Given the description of an element on the screen output the (x, y) to click on. 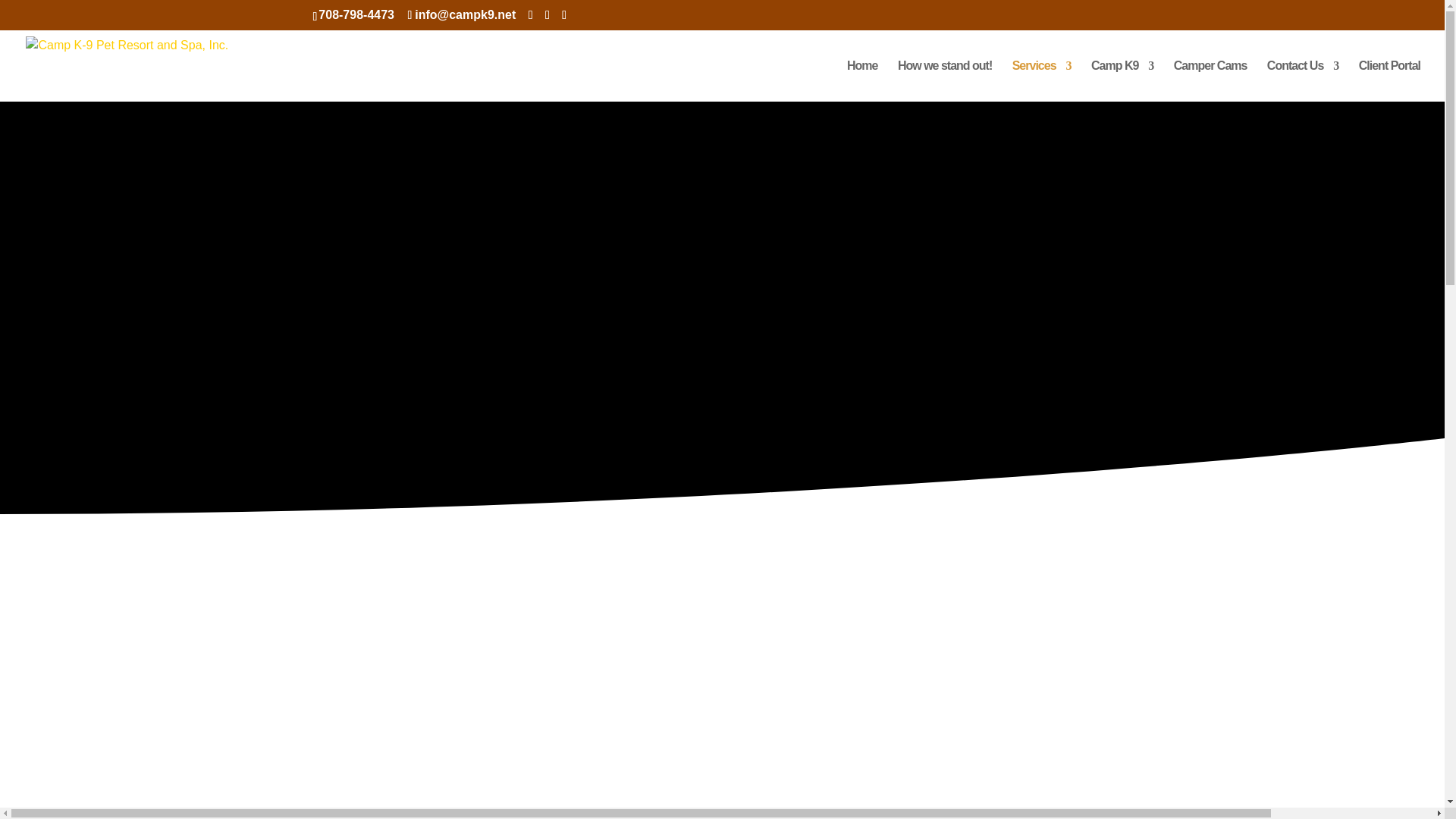
708-798-4473 (356, 14)
Contact Us (1302, 80)
Camp K9 (1121, 80)
Client Portal (1389, 80)
How we stand out! (944, 80)
Camper Cams (1210, 80)
Services (1041, 80)
